Given the description of an element on the screen output the (x, y) to click on. 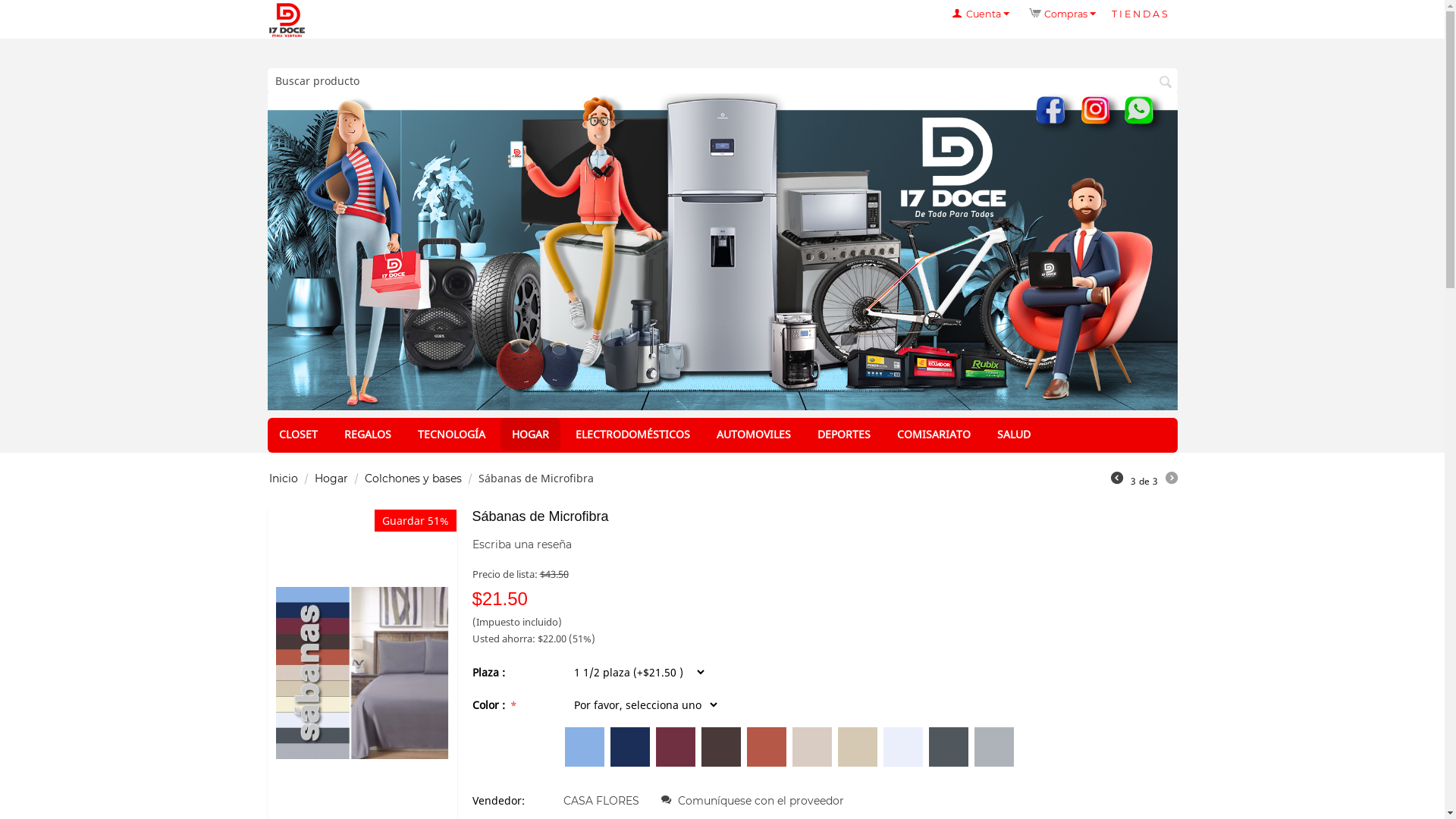
  Cuenta Element type: text (980, 13)
DEPORTES Element type: text (843, 433)
HOGAR Element type: text (530, 433)
17 Doce Element type: hover (285, 19)
17 Doce Element type: hover (285, 19)
Colchones y bases Element type: text (412, 478)
Buscar producto Element type: hover (721, 80)
Inicio Element type: text (282, 478)
CASA FLORES Element type: text (600, 800)
REGALOS Element type: text (366, 433)
T I E N D A S Element type: text (1139, 13)
Hogar Element type: text (330, 478)
AUTOMOVILES Element type: text (753, 433)
SALUD Element type: text (1013, 433)
Compras Element type: text (1062, 13)
CLOSET Element type: text (297, 433)
Anterior Element type: hover (1116, 479)
Buscar producto Element type: hover (1165, 81)
COMISARIATO Element type: text (933, 433)
